Given the description of an element on the screen output the (x, y) to click on. 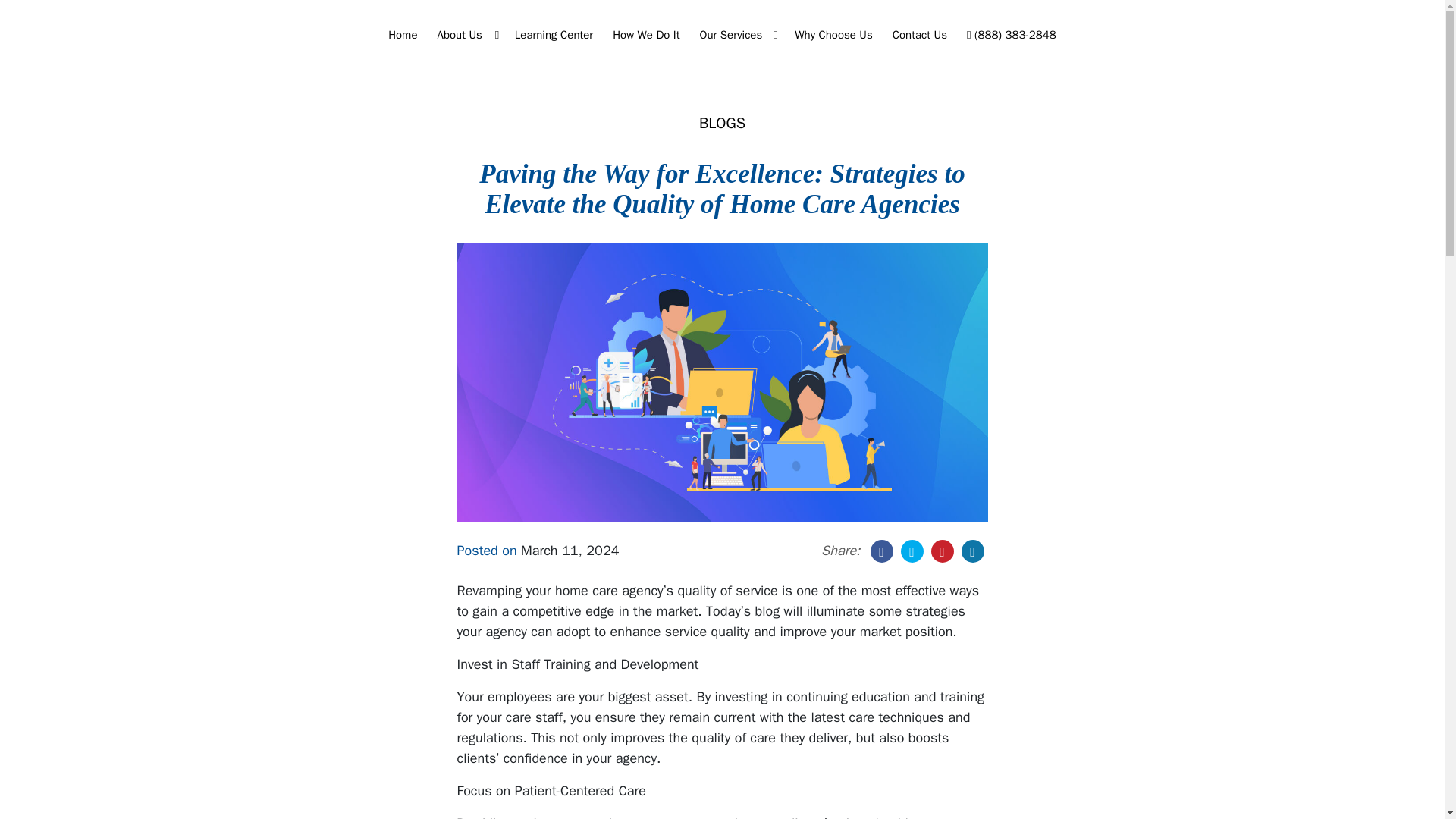
Why Choose Us (833, 34)
Home (402, 34)
About Us (465, 34)
Contact Us (919, 34)
Our Services (737, 34)
March 11, 2024 (569, 550)
BLOGS (721, 122)
Learning Center (553, 34)
How We Do It (646, 34)
